Given the description of an element on the screen output the (x, y) to click on. 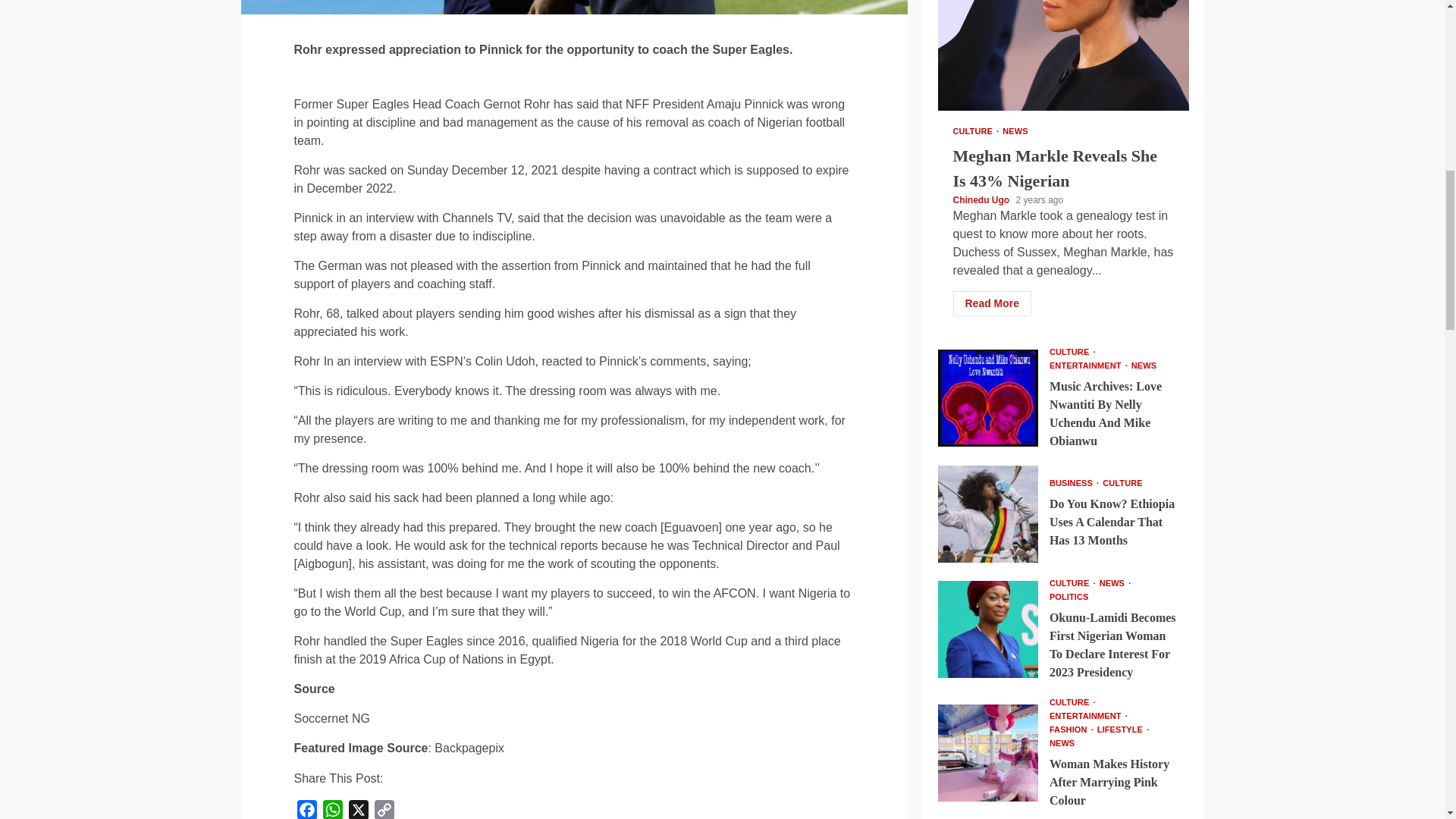
WhatsApp (333, 809)
Copy Link (384, 809)
X (358, 809)
Facebook (307, 809)
